Given the description of an element on the screen output the (x, y) to click on. 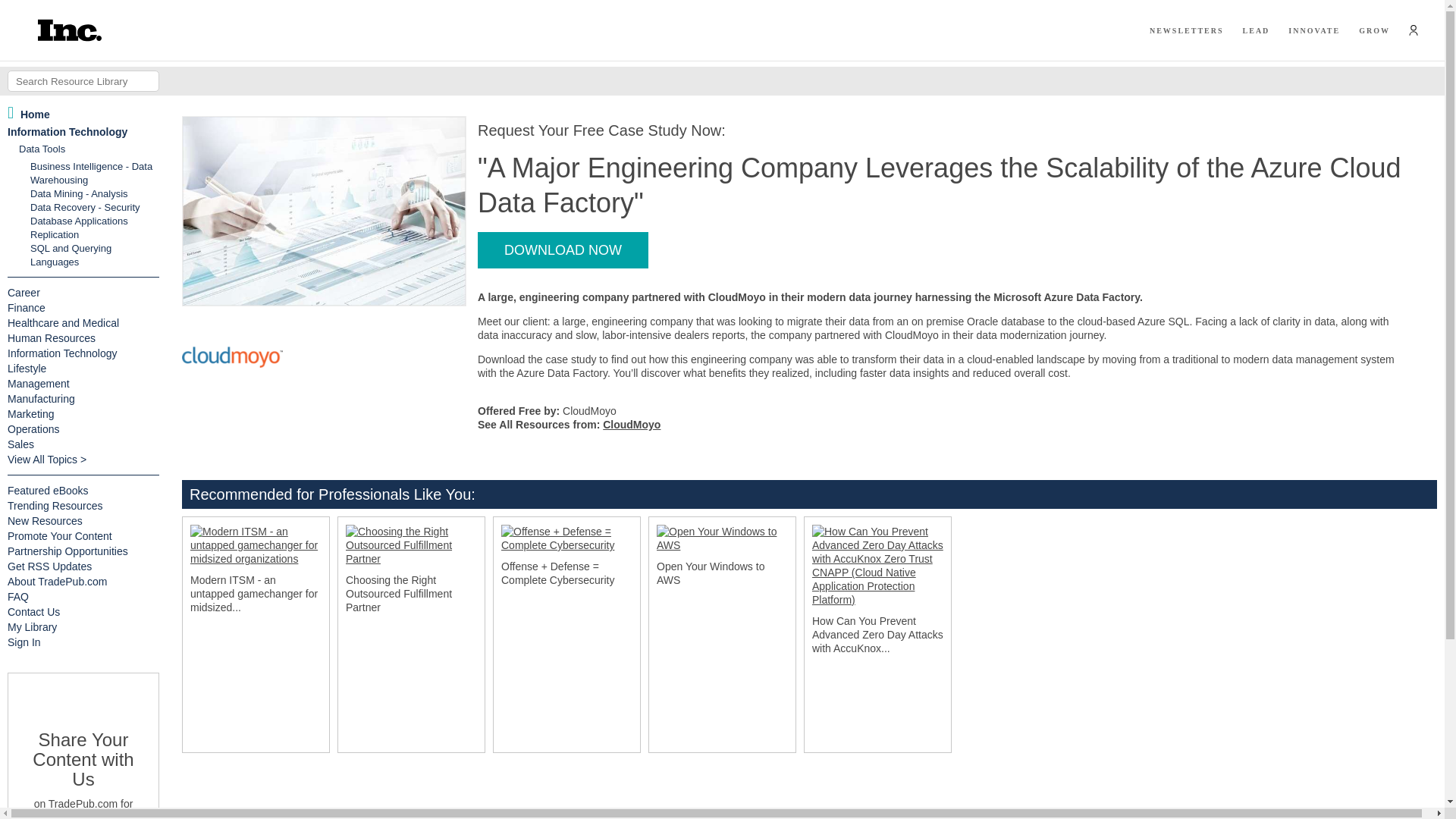
Continue to Grow on Inc.com (1374, 30)
Continue to Newsletters on Inc.com (1187, 30)
Continue to Lead on Inc.com (1256, 30)
Continue to Innovate on Inc.com (1313, 30)
